Given the description of an element on the screen output the (x, y) to click on. 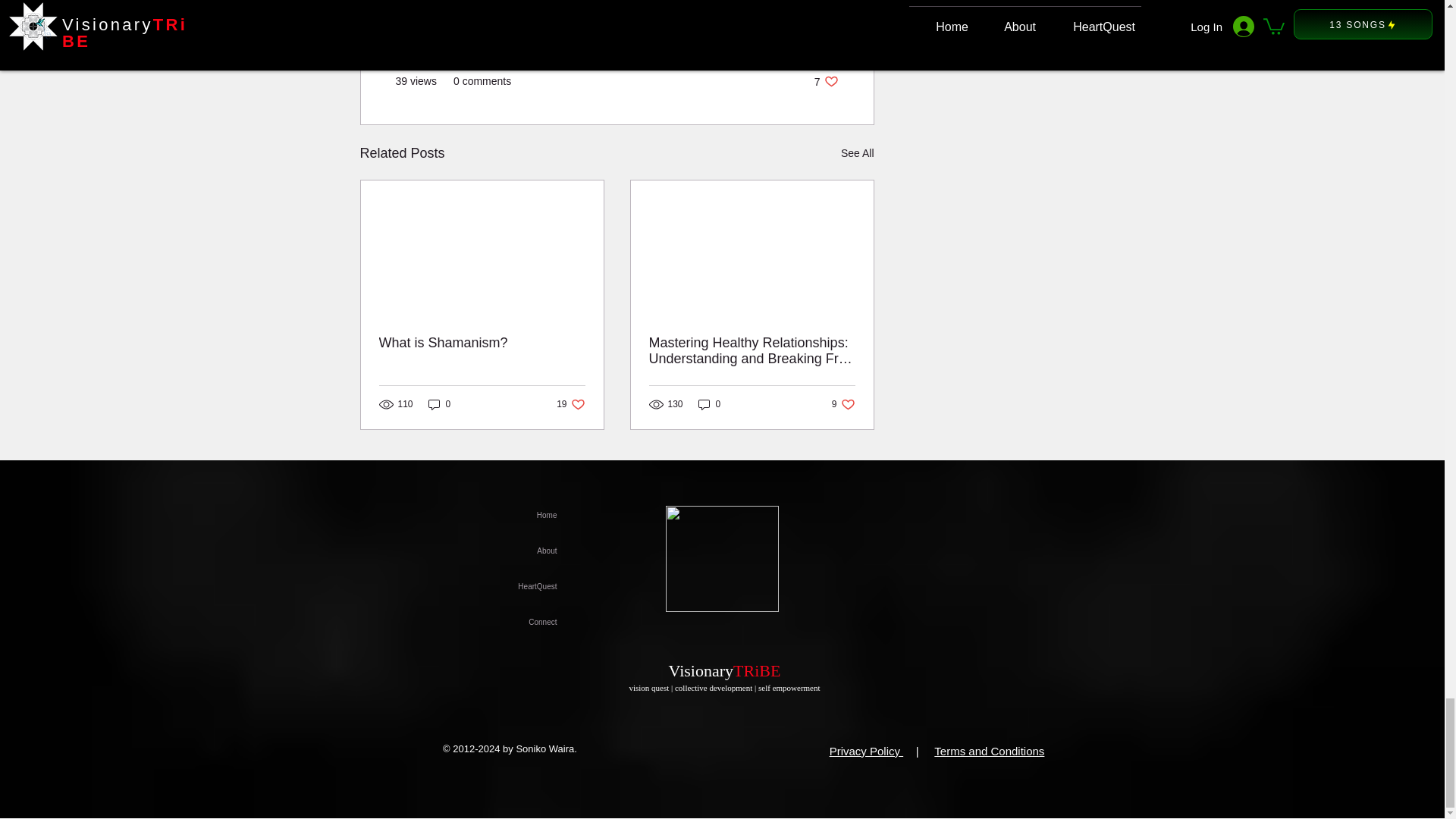
HeartQuest (747, 36)
